Given the description of an element on the screen output the (x, y) to click on. 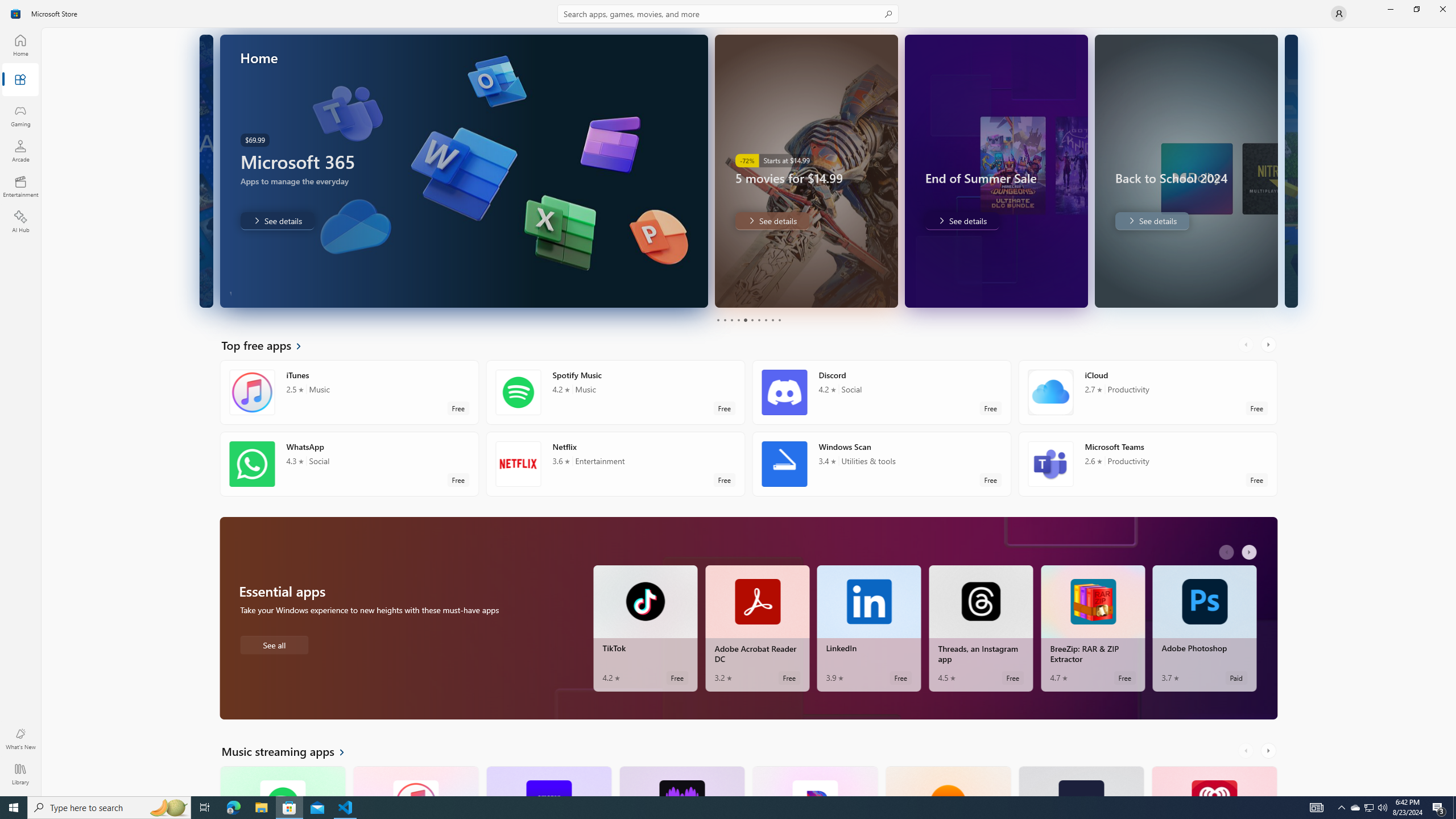
AutomationID: NavigationControl (728, 398)
Page 1 (717, 319)
Discord. Average rating of 4.2 out of five stars. Free   (881, 392)
WhatsApp. Average rating of 4.3 out of five stars. Free   (349, 463)
Search (727, 13)
iCloud. Average rating of 2.7 out of five stars. Free   (1146, 392)
LinkedIn. Average rating of 3.9 out of five stars. Free   (868, 628)
